Given the description of an element on the screen output the (x, y) to click on. 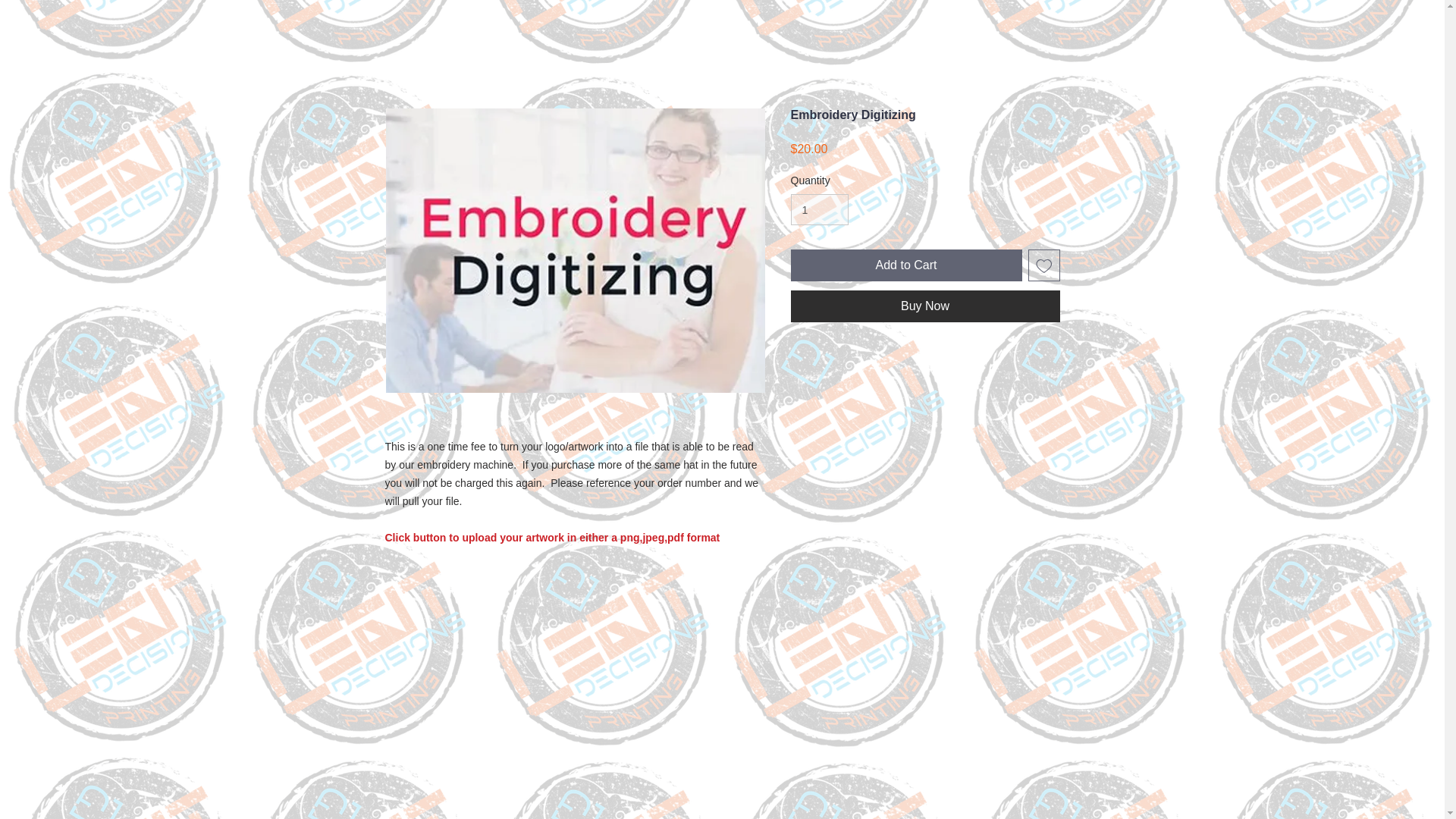
1 (818, 209)
Buy Now (924, 306)
Add to Cart (906, 265)
